Given the description of an element on the screen output the (x, y) to click on. 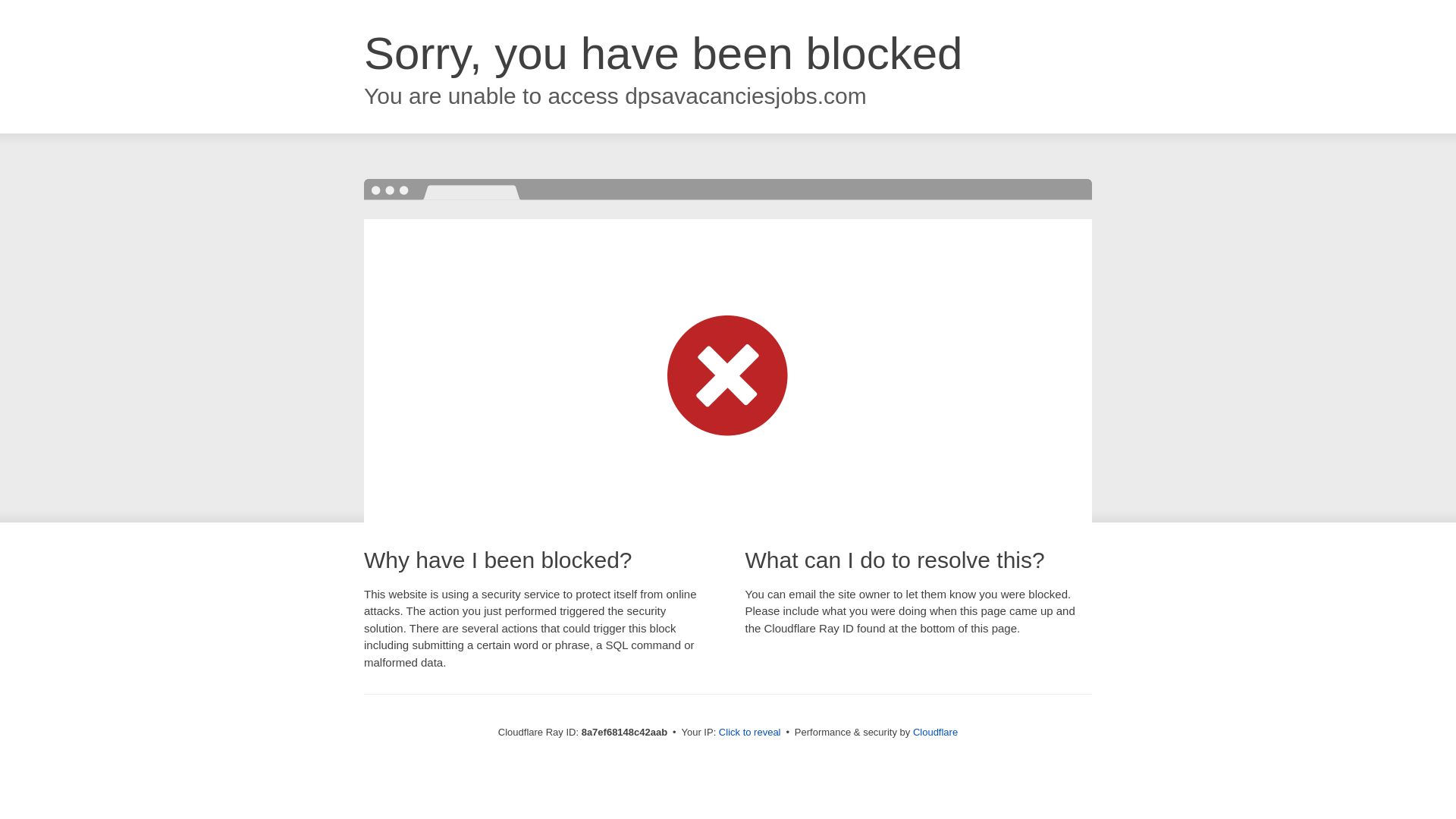
Cloudflare (935, 731)
Click to reveal (749, 732)
